Given the description of an element on the screen output the (x, y) to click on. 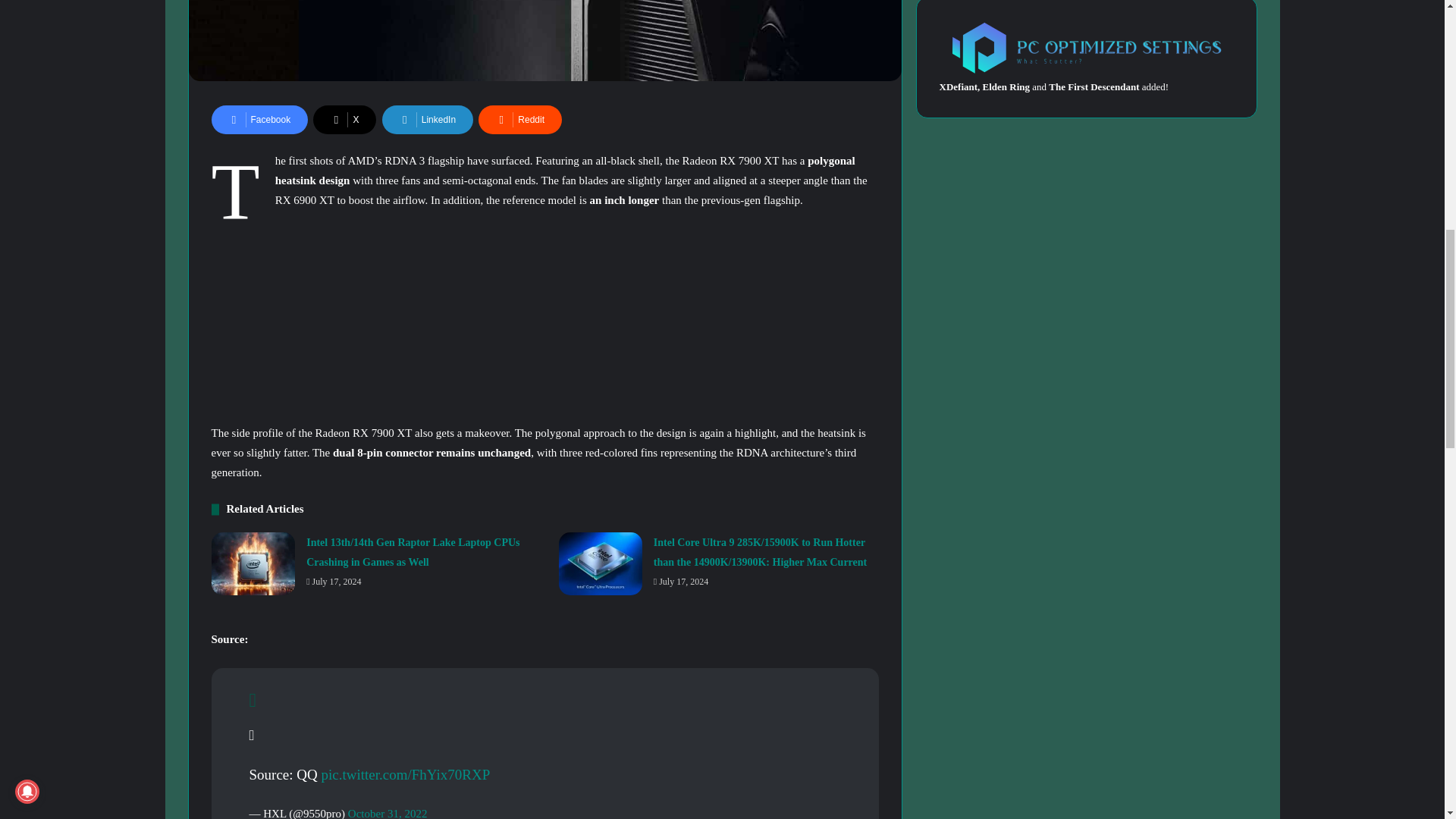
X (344, 119)
X (344, 119)
Reddit (520, 119)
LinkedIn (427, 119)
Facebook (259, 119)
Facebook (259, 119)
October 31, 2022 (387, 813)
Reddit (520, 119)
LinkedIn (427, 119)
